Given the description of an element on the screen output the (x, y) to click on. 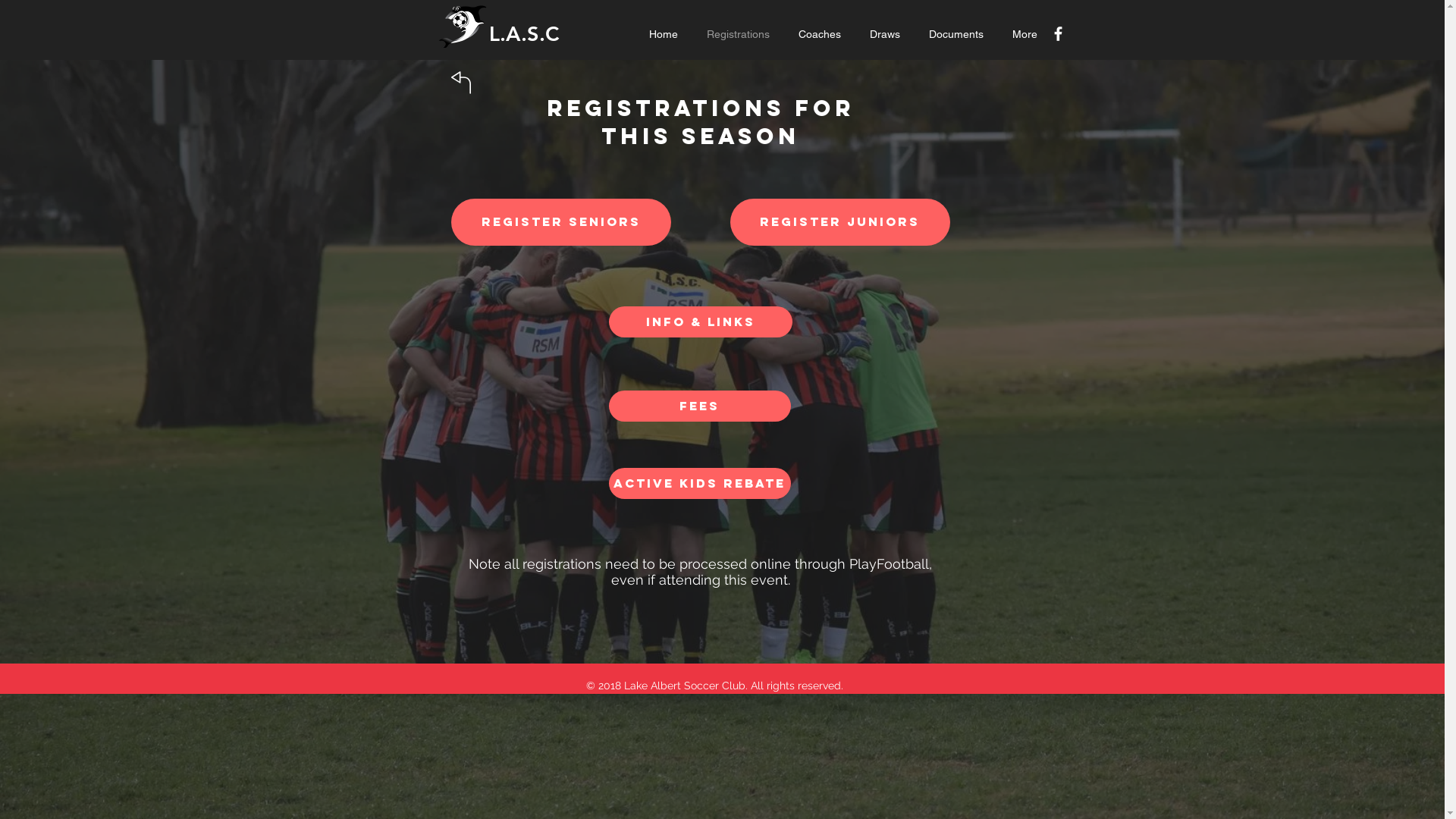
ACTIVE KIDS REBATE Element type: text (699, 482)
INFO & LINKS Element type: text (699, 321)
Draws Element type: text (887, 33)
L.A.S.C Element type: text (523, 33)
REGISTER SENIORS Element type: text (560, 221)
Registrations Element type: text (740, 33)
Fees Element type: text (699, 405)
REGISTER JUNIORS Element type: text (839, 221)
Documents Element type: text (959, 33)
Home Element type: text (665, 33)
Coaches Element type: text (822, 33)
